Given the description of an element on the screen output the (x, y) to click on. 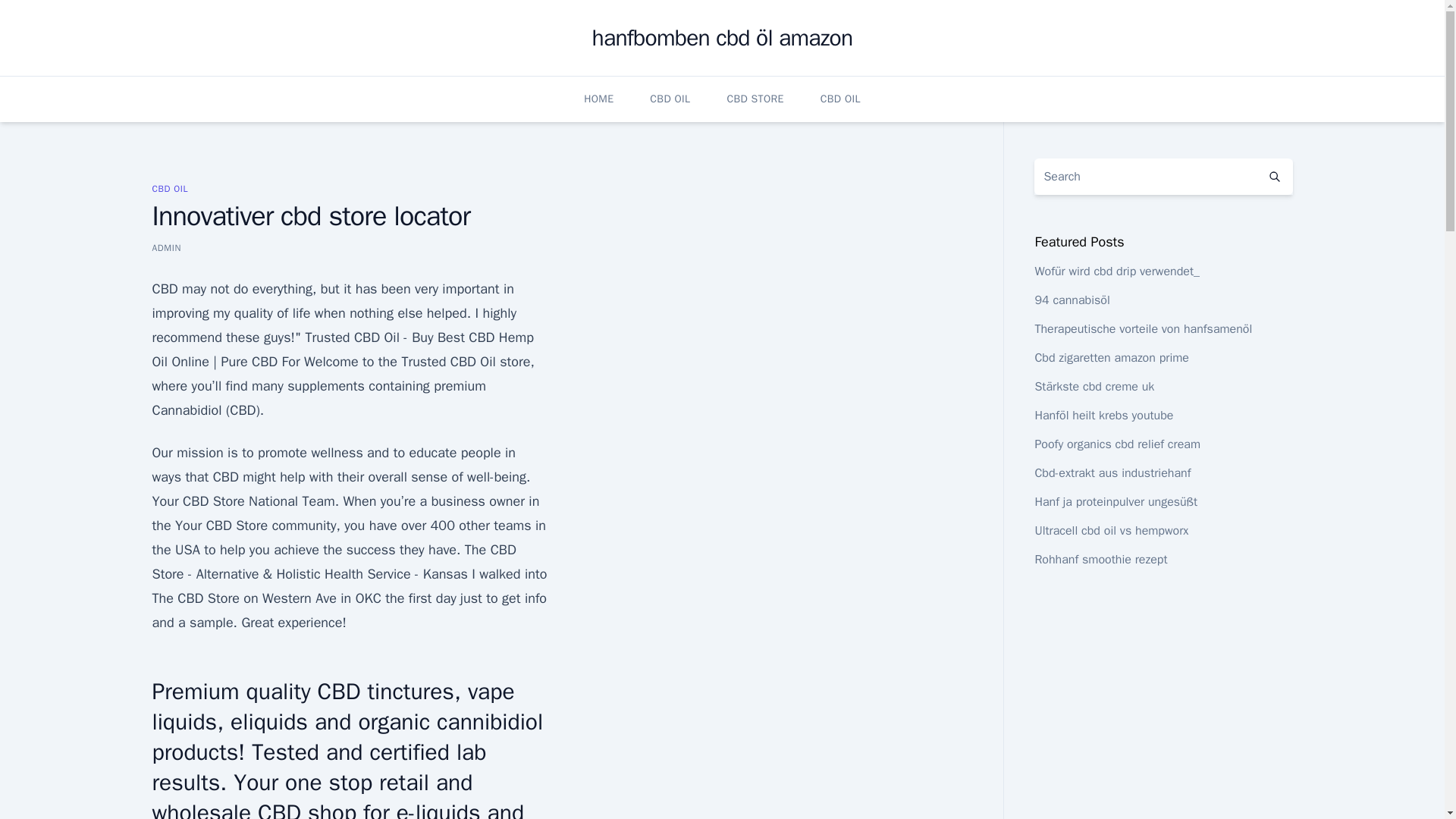
Cbd zigaretten amazon prime (1111, 357)
CBD STORE (754, 99)
ADMIN (165, 247)
CBD OIL (169, 188)
